Given the description of an element on the screen output the (x, y) to click on. 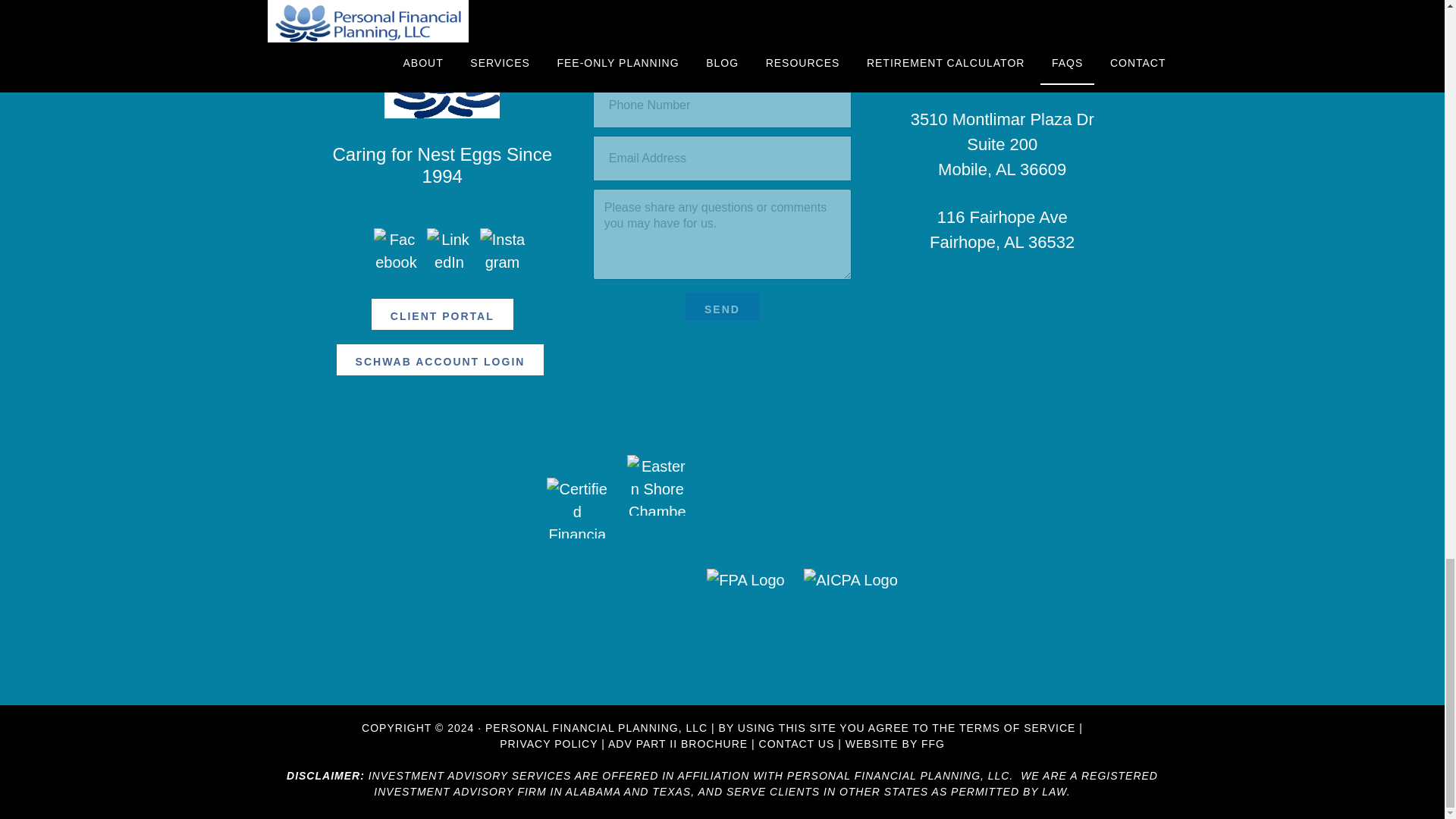
Phone: 251-342-7377 (1002, 6)
TERMS OF SERVICE (1017, 727)
PRIVACY POLICY (547, 743)
Facebook (395, 250)
ADV PART II BROCHURE (678, 743)
SEND (722, 306)
CLIENT PORTAL (442, 314)
WEBSITE BY FFG (894, 743)
SCHWAB ACCOUNT LOGIN (440, 359)
Instagram (501, 250)
